Given the description of an element on the screen output the (x, y) to click on. 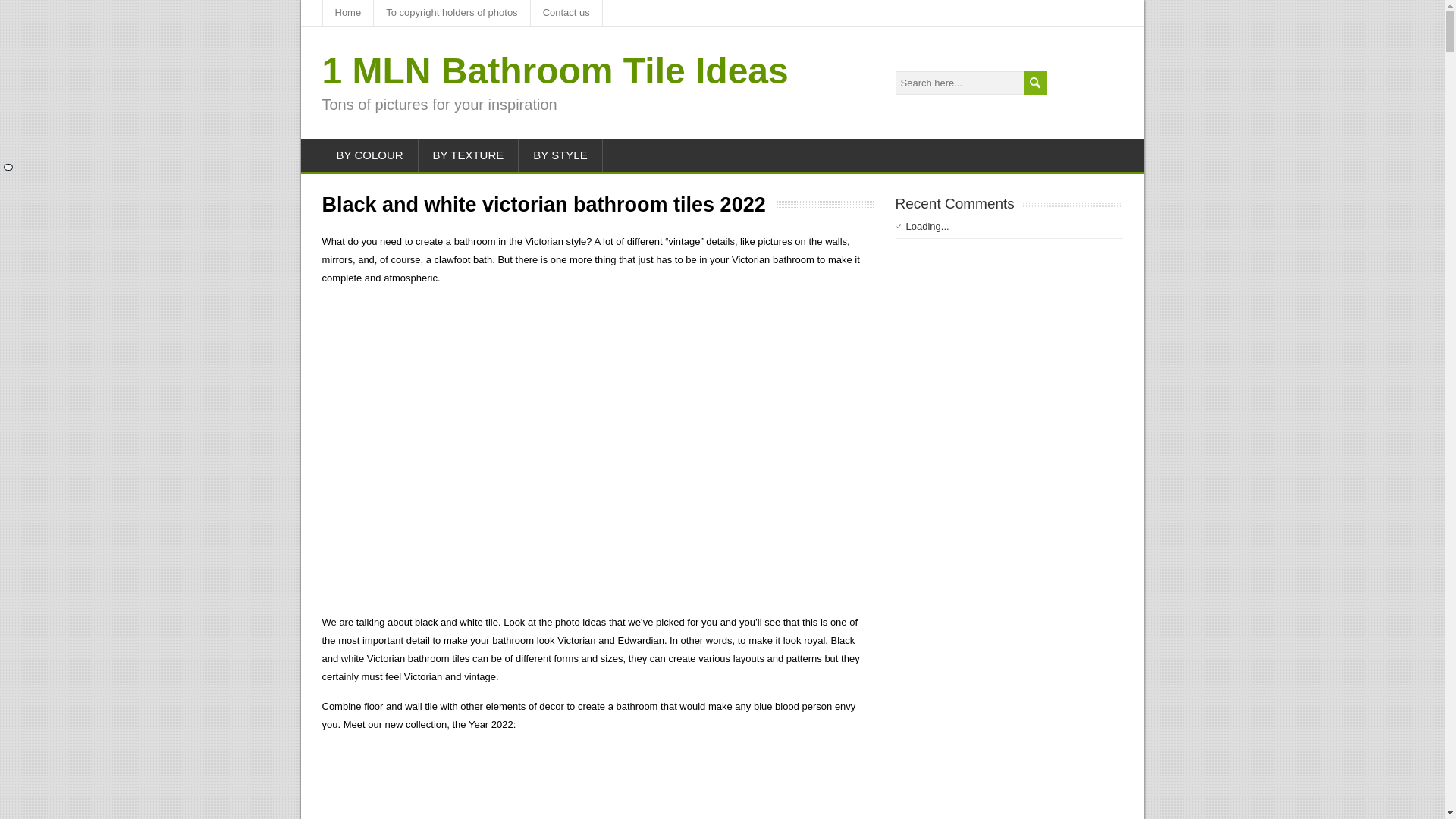
Home (348, 12)
1 MLN Bathroom Tile Ideas (554, 70)
BY COLOUR (369, 154)
Contact us (566, 12)
To copyright holders of photos (451, 12)
BY TEXTURE (469, 154)
Share This With Your Friends (8, 166)
home (348, 12)
BY STYLE (560, 154)
